Given the description of an element on the screen output the (x, y) to click on. 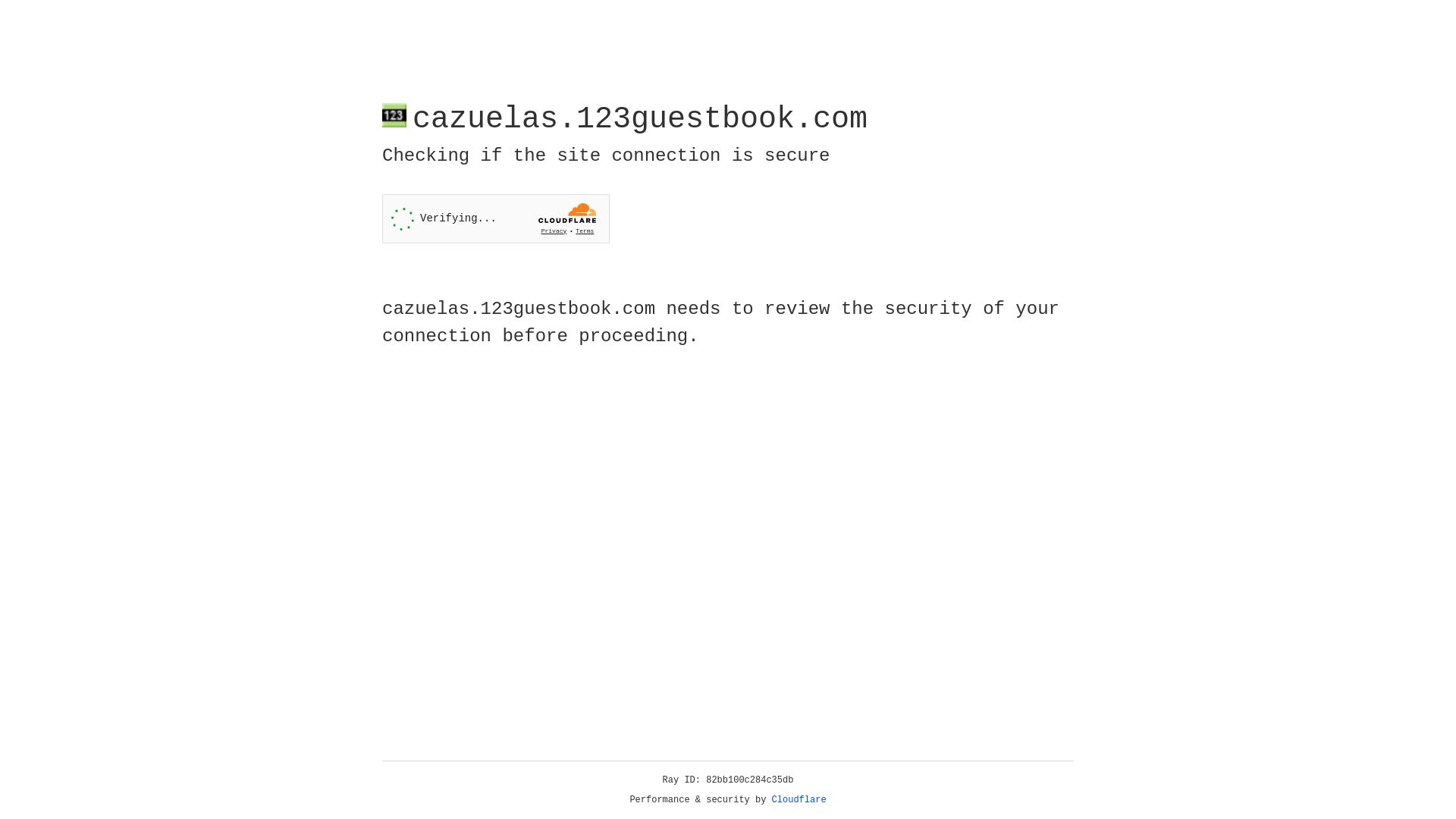
Cloudflare Element type: text (798, 799)
Widget containing a Cloudflare security challenge Element type: hover (495, 218)
